Given the description of an element on the screen output the (x, y) to click on. 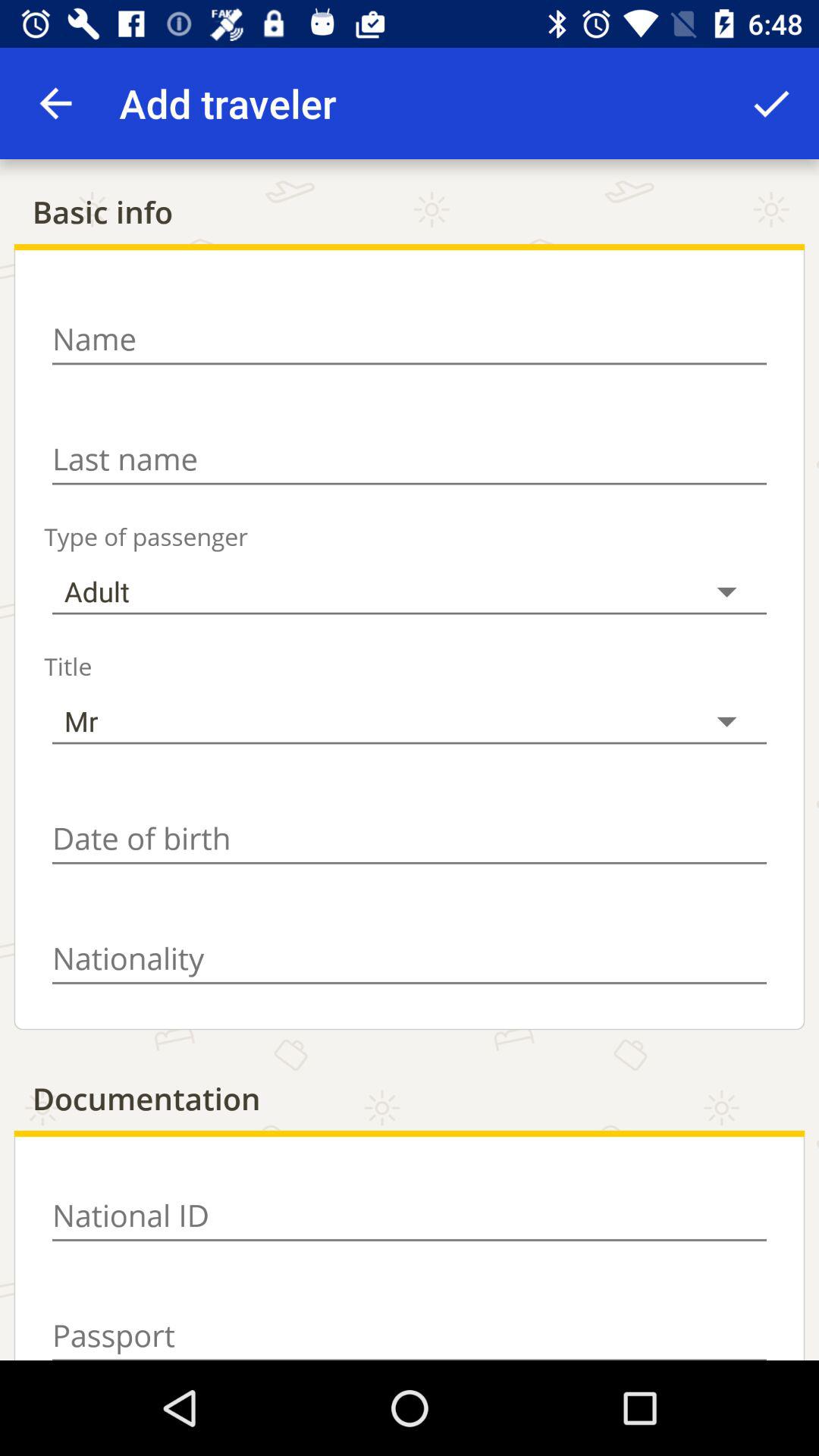
enter date of bith (409, 838)
